Given the description of an element on the screen output the (x, y) to click on. 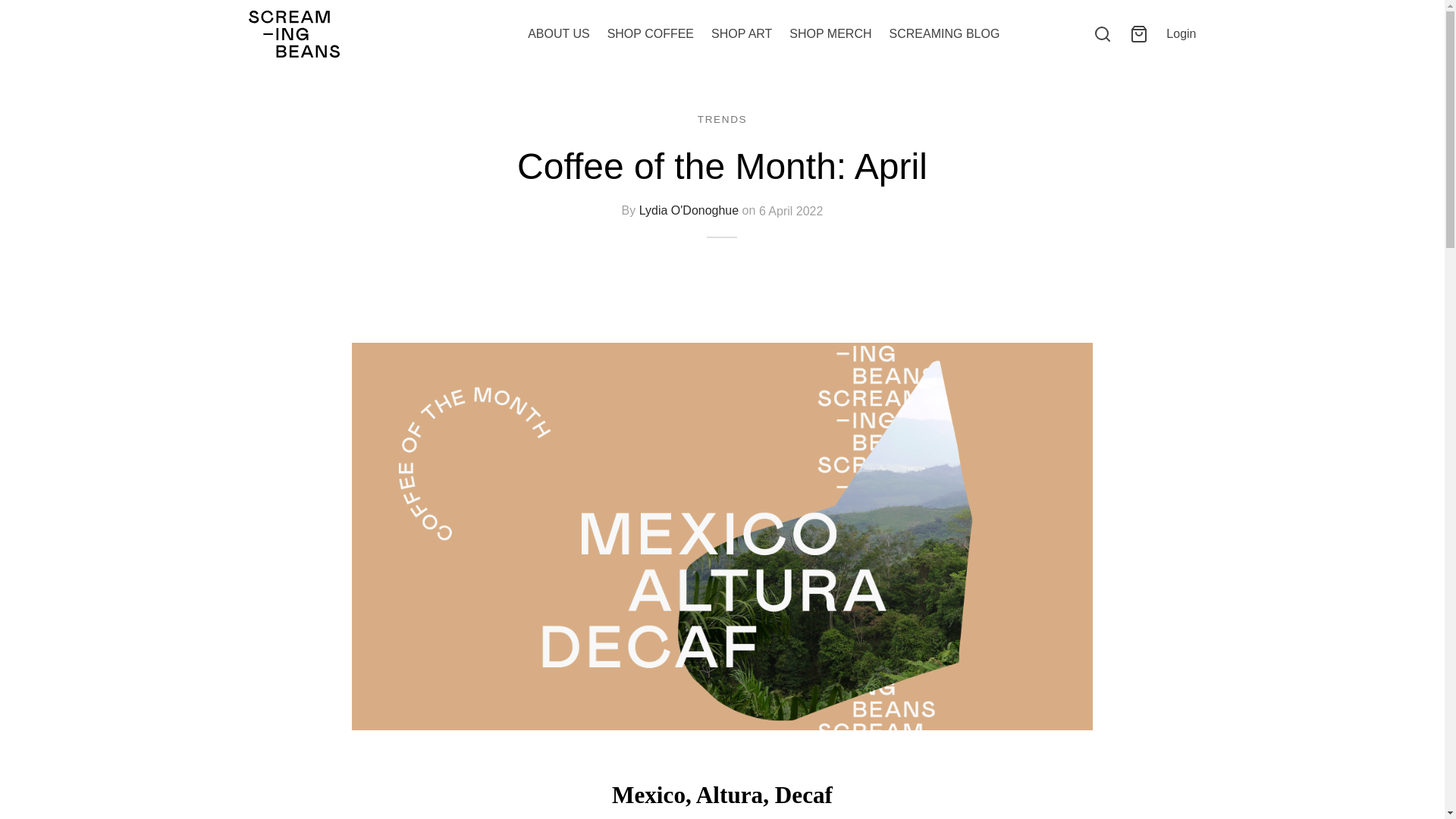
SHOP ART (741, 34)
SHOP MERCH (829, 34)
SHOP COFFEE (650, 34)
Posts by Lydia O'Donoghue (688, 210)
Cart (1138, 34)
Lydia O'Donoghue (688, 210)
TRENDS (722, 118)
SCREAMING BLOG (944, 34)
ABOUT US (558, 34)
Login (1180, 33)
